Given the description of an element on the screen output the (x, y) to click on. 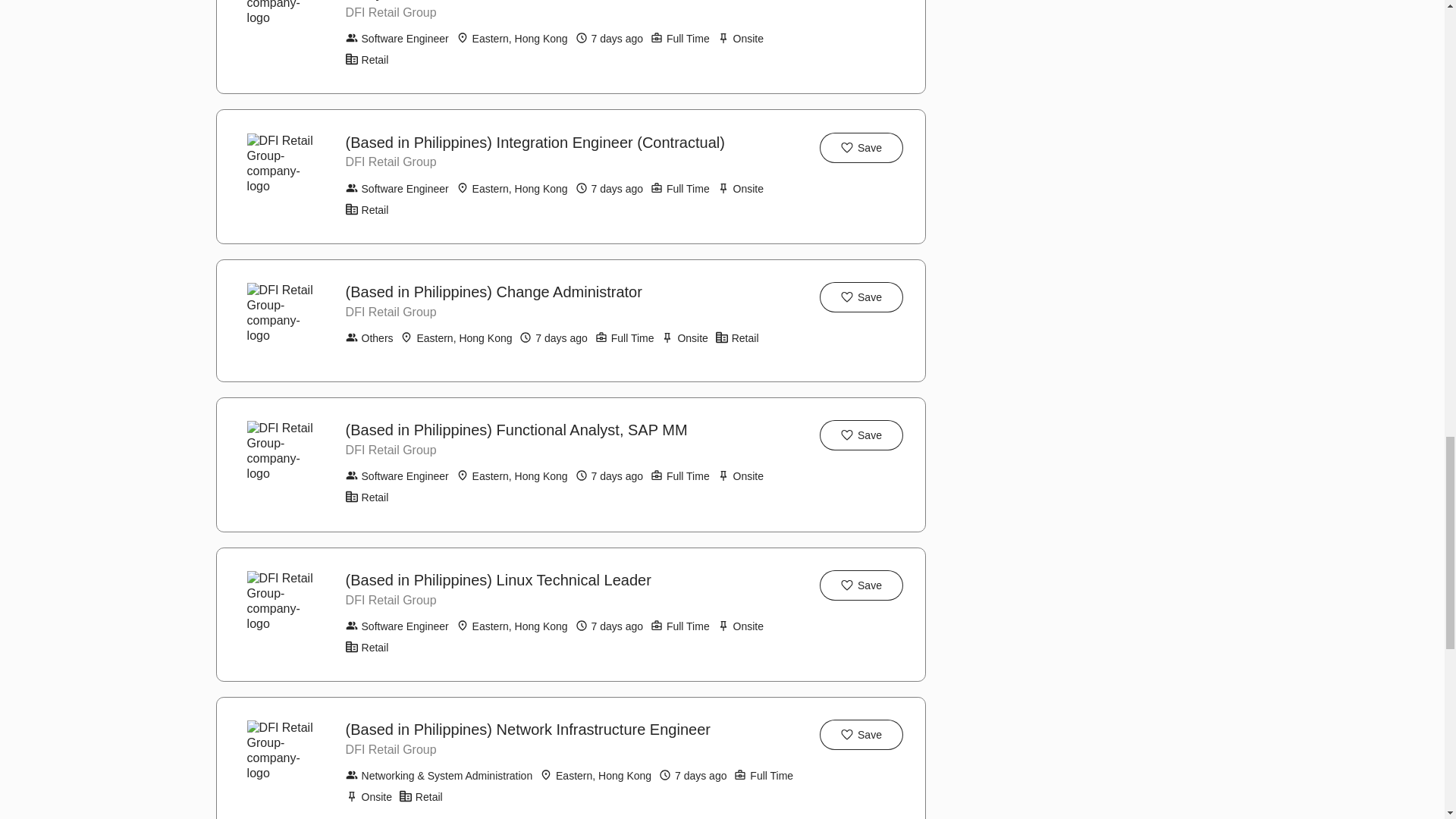
Save (861, 434)
Save (861, 147)
Save (861, 734)
Save (861, 297)
Save (861, 584)
